Given the description of an element on the screen output the (x, y) to click on. 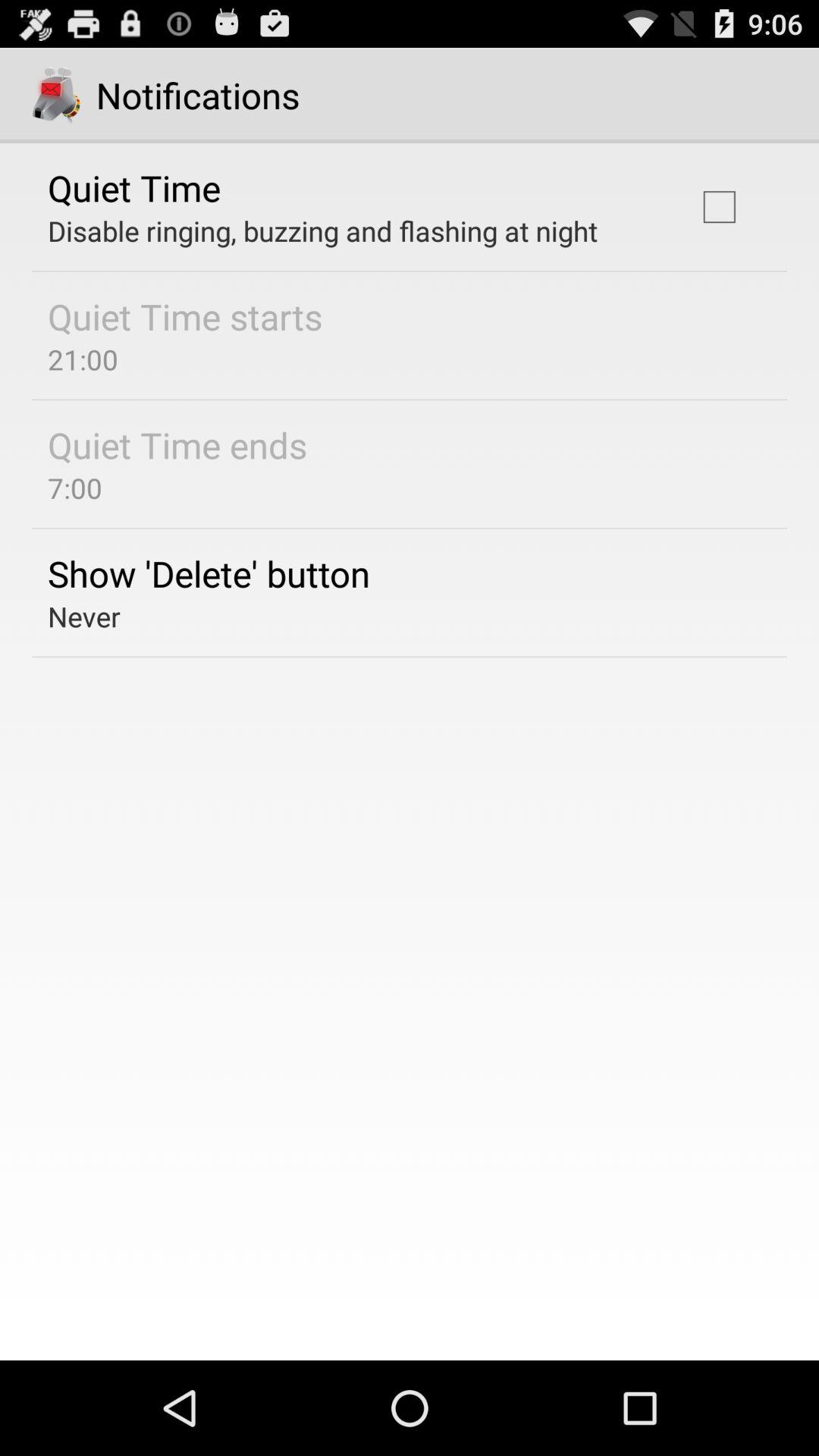
select the app at the top (322, 230)
